Given the description of an element on the screen output the (x, y) to click on. 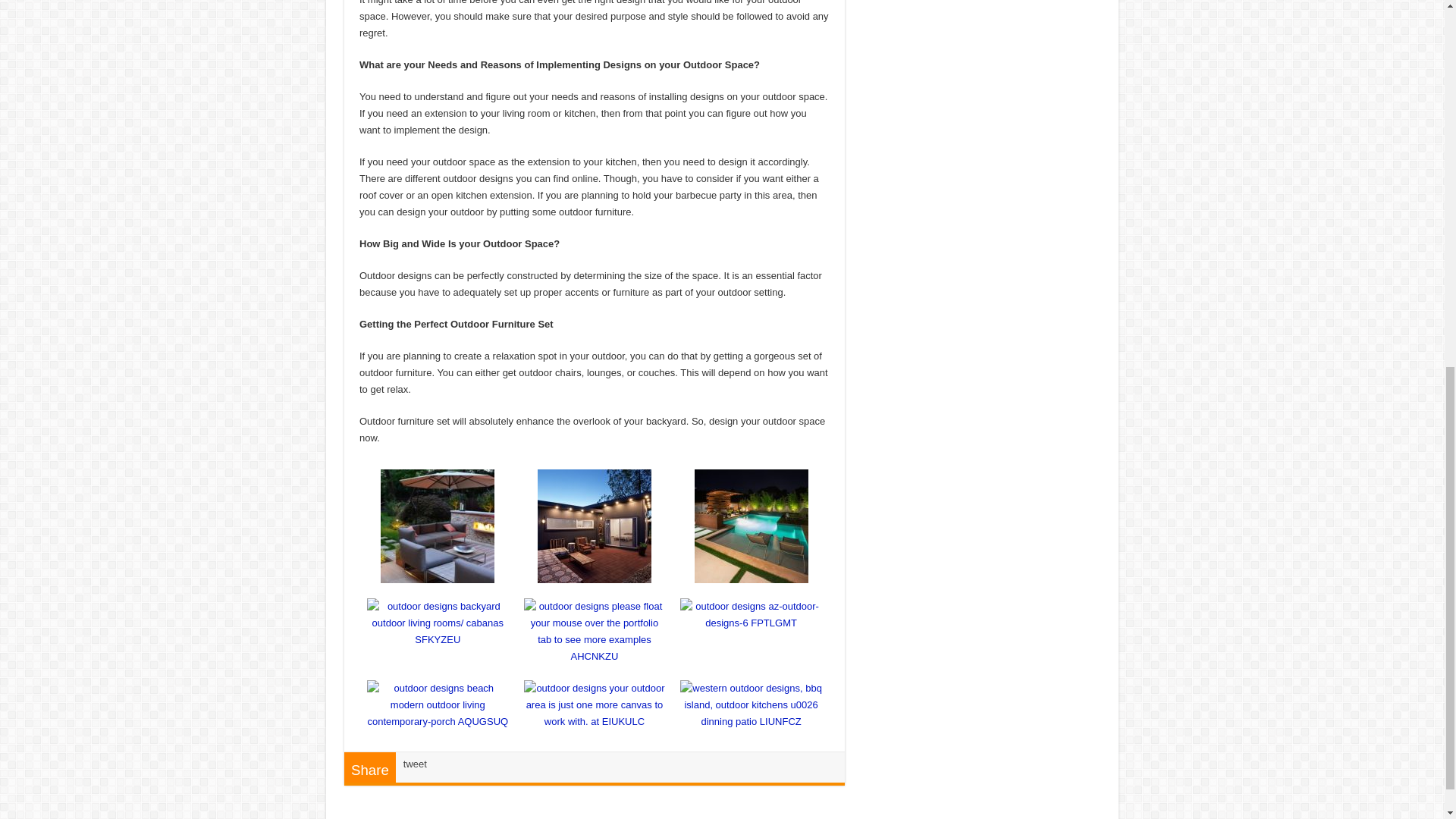
tweet (414, 763)
